Given the description of an element on the screen output the (x, y) to click on. 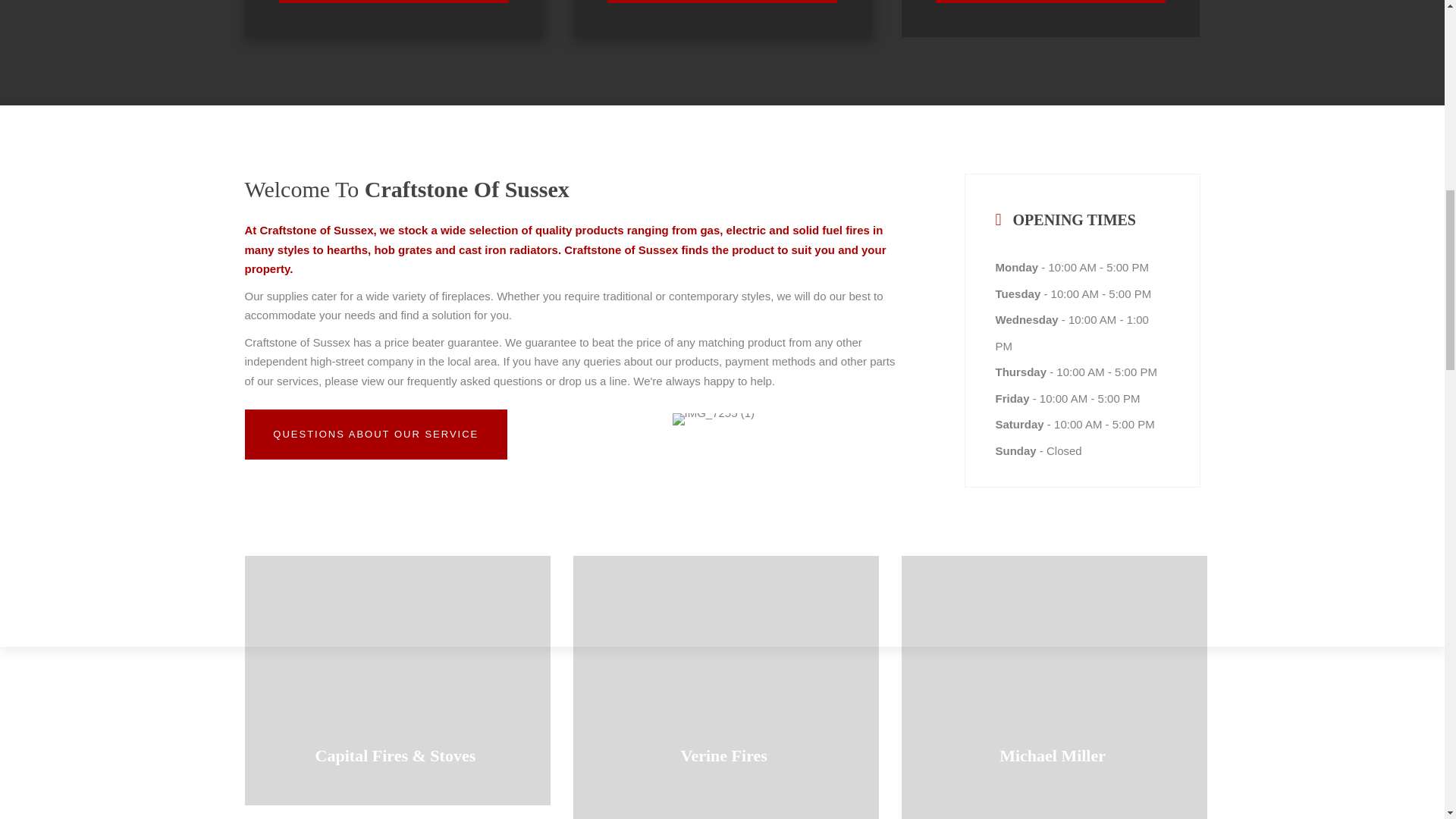
Verine Fires (726, 687)
LEARN MORE (393, 2)
Michael Miller (1054, 687)
LEARN MORE (722, 2)
QUESTIONS ABOUT OUR SERVICE (375, 434)
LEARN MORE (1051, 2)
